Given the description of an element on the screen output the (x, y) to click on. 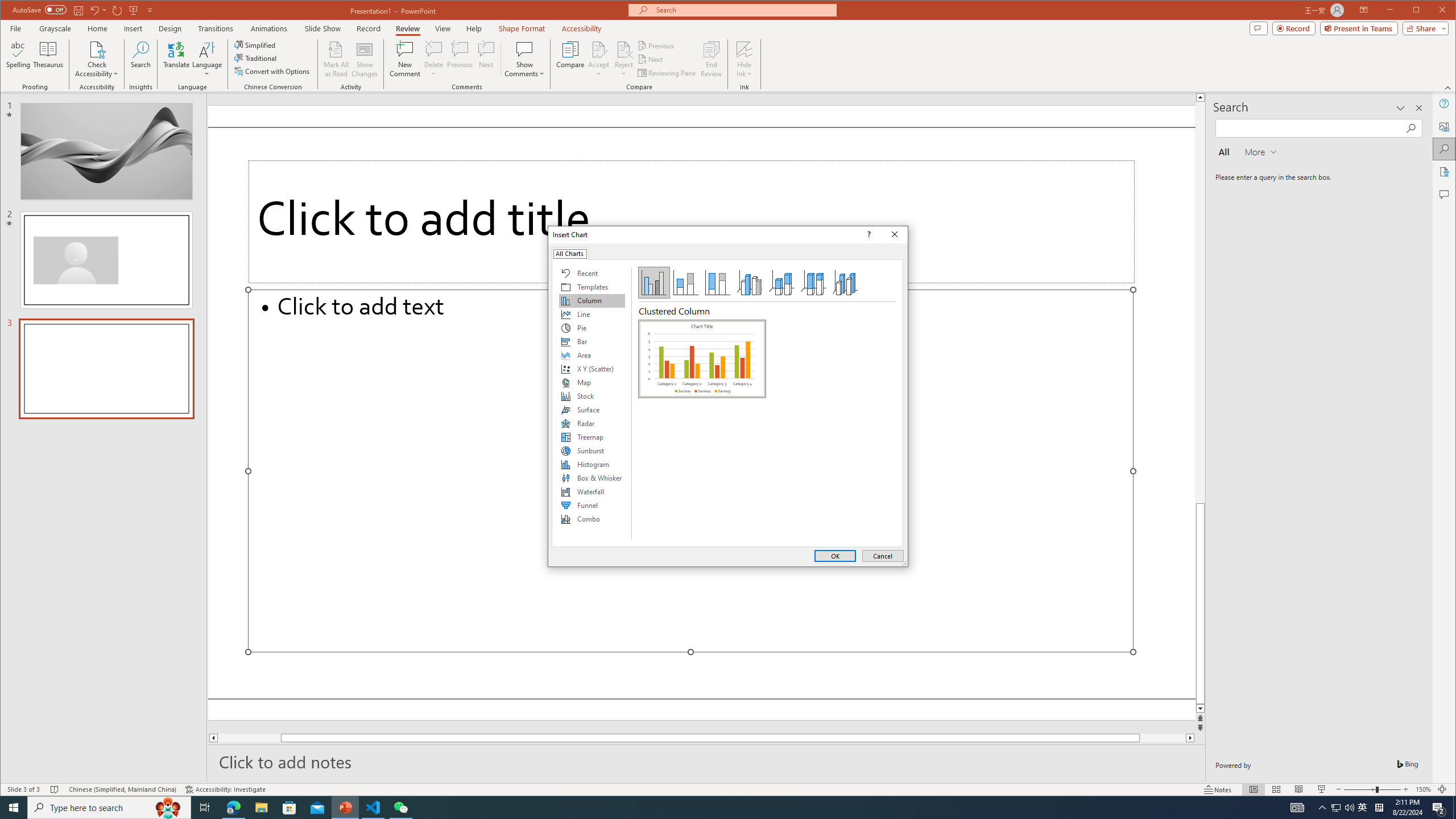
3-D Stacked Column (781, 282)
3-D Clustered Column (749, 282)
Class: NetUIGalleryContainer (701, 429)
Combo (591, 518)
Show Changes (365, 59)
Convert with Options... (272, 70)
Accept Change (598, 48)
Waterfall (591, 491)
